Given the description of an element on the screen output the (x, y) to click on. 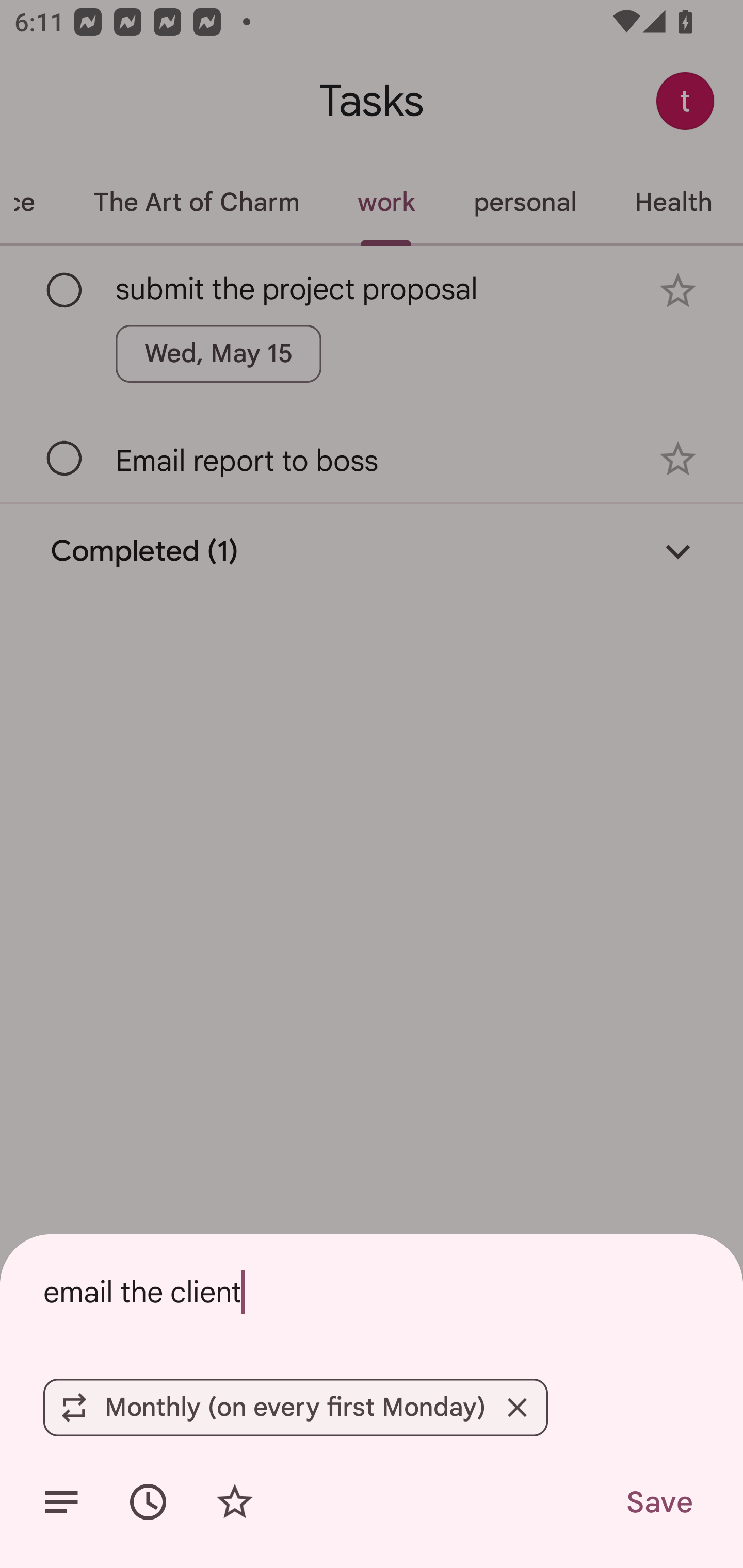
email the client (371, 1291)
Save (659, 1501)
Add details (60, 1501)
Set date/time (147, 1501)
Add star (234, 1501)
